Given the description of an element on the screen output the (x, y) to click on. 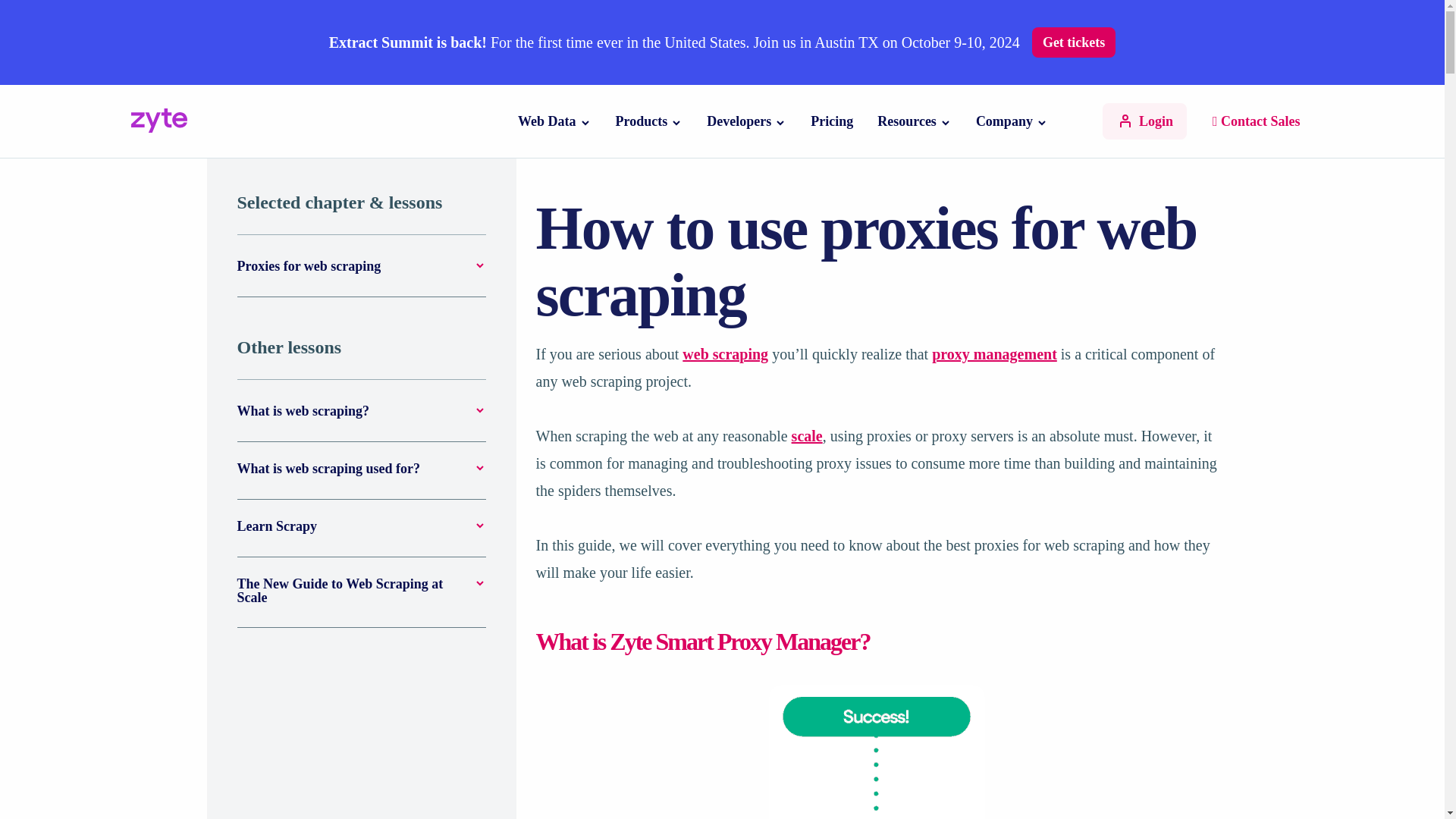
Login (1144, 121)
Pricing (831, 120)
Web Data (547, 120)
Resources (906, 120)
Products (641, 120)
Developers (738, 120)
Get tickets (1073, 42)
